Given the description of an element on the screen output the (x, y) to click on. 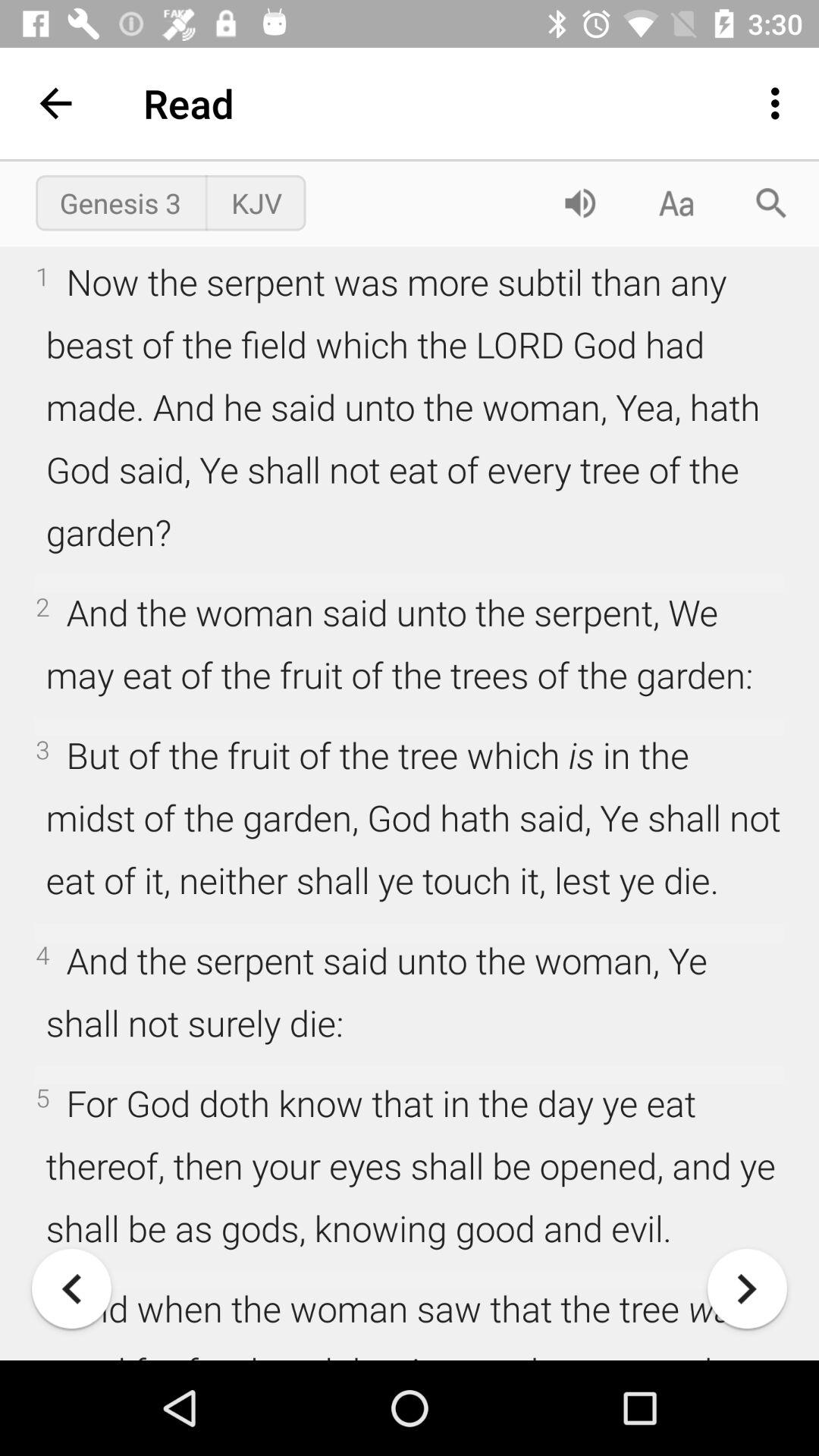
back one page (71, 1288)
